Given the description of an element on the screen output the (x, y) to click on. 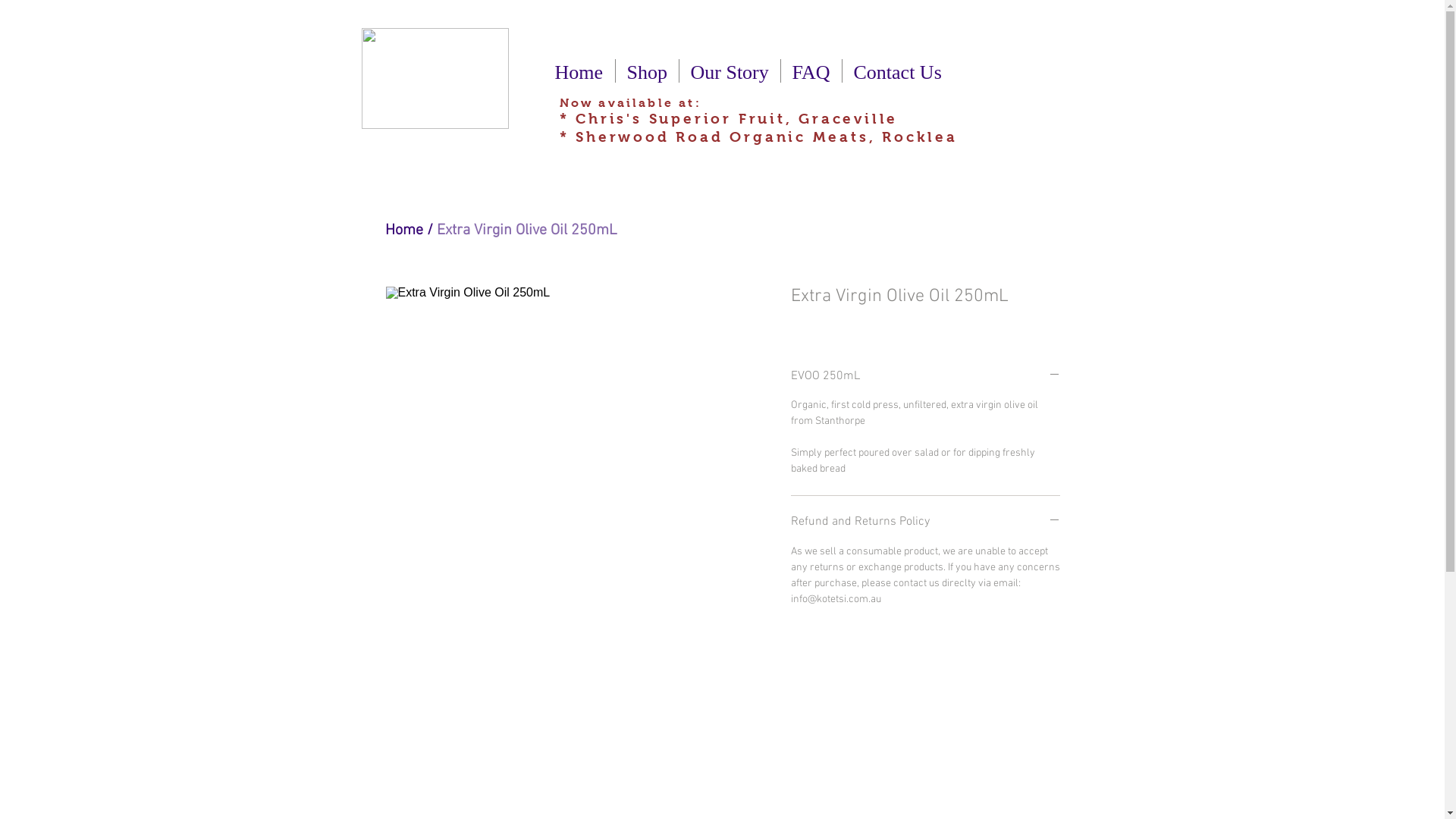
Our Story Element type: text (729, 70)
Home Element type: text (404, 230)
Extra Virgin Olive Oil 250mL Element type: text (526, 230)
EVOO 250mL Element type: text (924, 376)
Refund and Returns Policy Element type: text (924, 522)
FAQ Element type: text (811, 70)
Shop Element type: text (646, 70)
Home Element type: text (578, 70)
Contact Us Element type: text (896, 70)
